Given the description of an element on the screen output the (x, y) to click on. 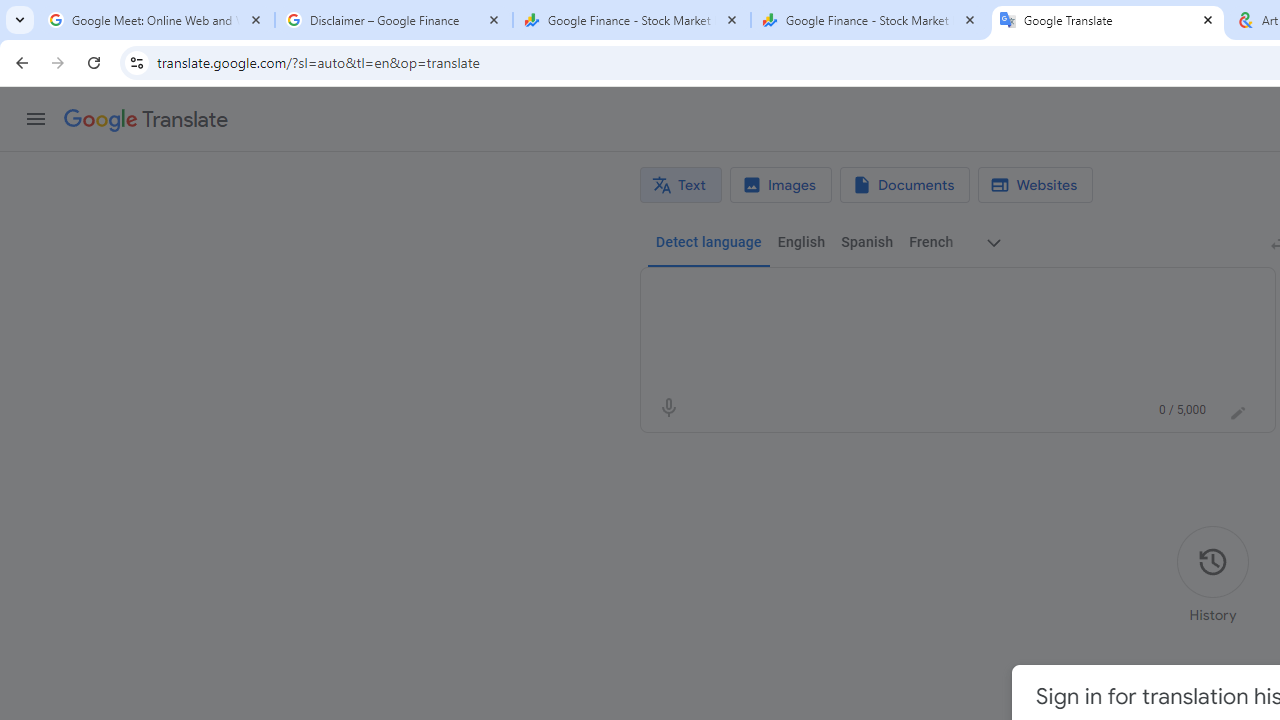
Google Translate (1108, 20)
